Given the description of an element on the screen output the (x, y) to click on. 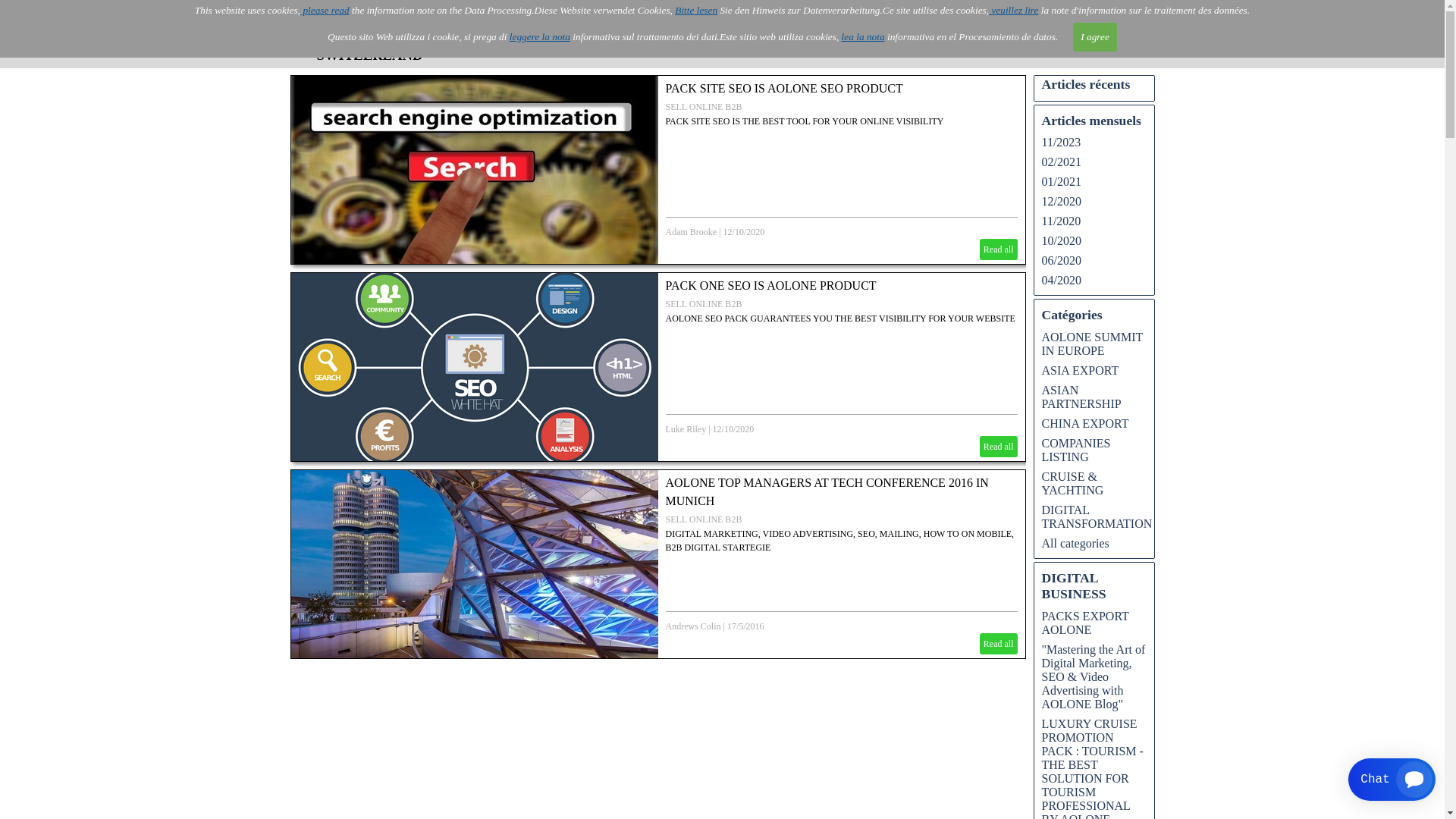
12/2020 Element type: text (1061, 200)
11/2023 Element type: text (1061, 141)
AOLONE TOP MANAGERS AT TECH CONFERENCE 2016 IN MUNICH Element type: text (826, 491)
All categories Element type: text (1075, 542)
PACKS EXPORT AOLONE Element type: text (1085, 622)
SELL ONLINE B2B Element type: text (703, 519)
Andrews Colin Element type: text (694, 626)
PACK SITE SEO IS AOLONE SEO PRODUCT Element type: text (784, 87)
Luke Riley Element type: text (685, 428)
06/2020 Element type: text (1061, 260)
COMPANIES LISTING Element type: text (1075, 449)
11/2020 Element type: text (1061, 220)
lea la nota Element type: text (862, 36)
Video Element type: text (722, 34)
Read all Element type: text (998, 643)
Blog Element type: text (1001, 34)
AOLONE Element type: text (513, 34)
Bitte lesen Element type: text (695, 9)
ASIA EXPORT Element type: text (1080, 370)
02/2021 Element type: text (1061, 161)
Adam Brooke Element type: text (691, 231)
Smartsupp widget button Element type: hover (1391, 779)
10/2020 Element type: text (1061, 240)
leggere la nota Element type: text (539, 36)
CRUISE & YACHTING Element type: text (1072, 483)
veuillez lire Element type: text (1013, 9)
CHINA EXPORT Element type: text (1085, 423)
01/2021 Element type: text (1061, 181)
ASIAN PARTNERSHIP Element type: text (1081, 396)
SELL ONLINE B2B Element type: text (703, 303)
04/2020 Element type: text (1061, 279)
SELL ONLINE B2B Element type: text (703, 106)
AOLONE SUMMIT IN EUROPE Element type: text (1092, 343)
DIGITAL TRANSFORMATION Element type: text (1096, 516)
PACK ONE SEO IS AOLONE PRODUCT Element type: text (770, 285)
please read Element type: text (324, 9)
Read all Element type: text (998, 249)
Read all Element type: text (998, 446)
